Given the description of an element on the screen output the (x, y) to click on. 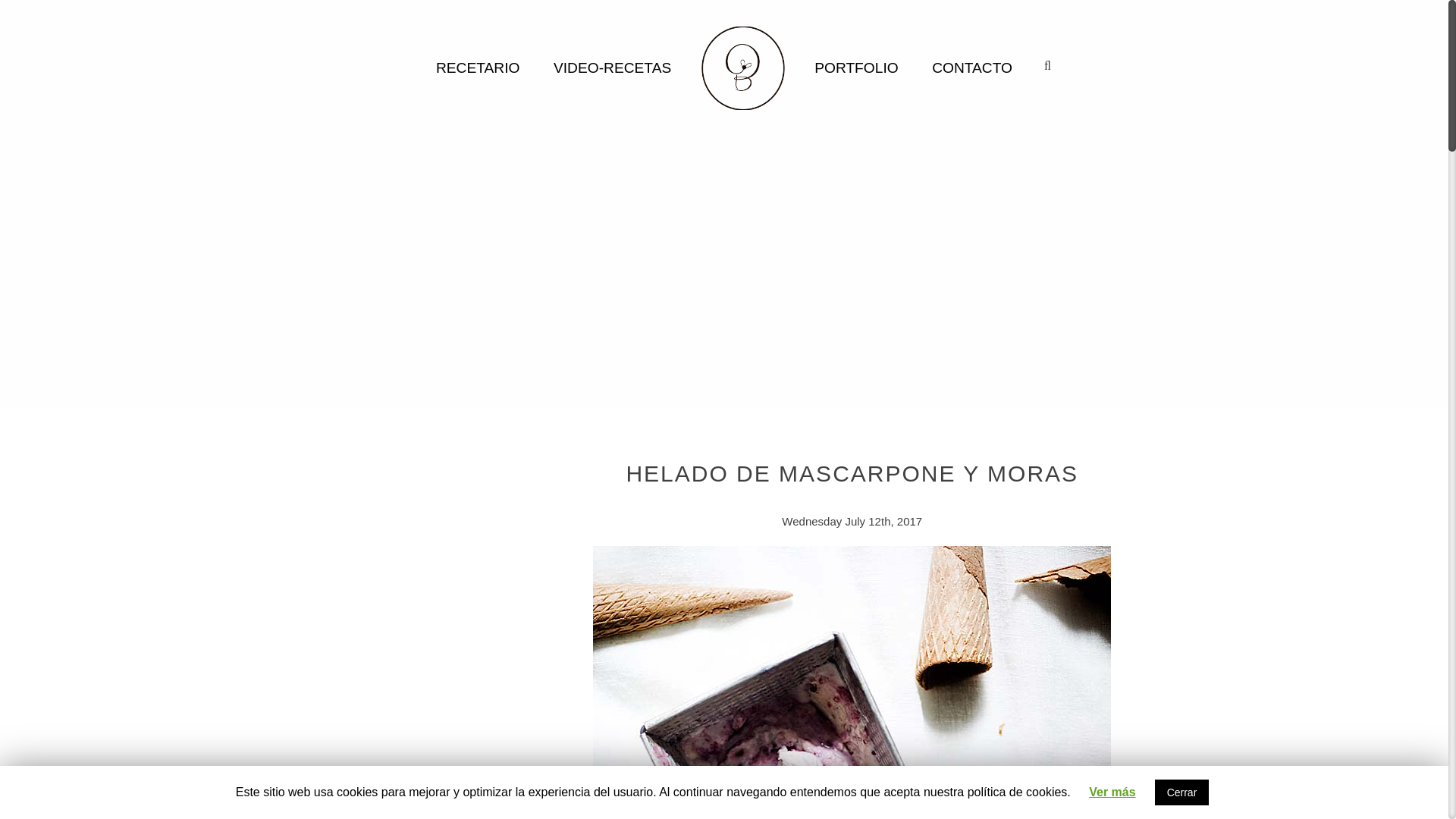
VIDEO-RECETAS (612, 67)
PORTFOLIO (855, 67)
Cerrar (1181, 792)
CONTACTO (972, 67)
BLOG (743, 67)
RECETARIO (477, 67)
